Given the description of an element on the screen output the (x, y) to click on. 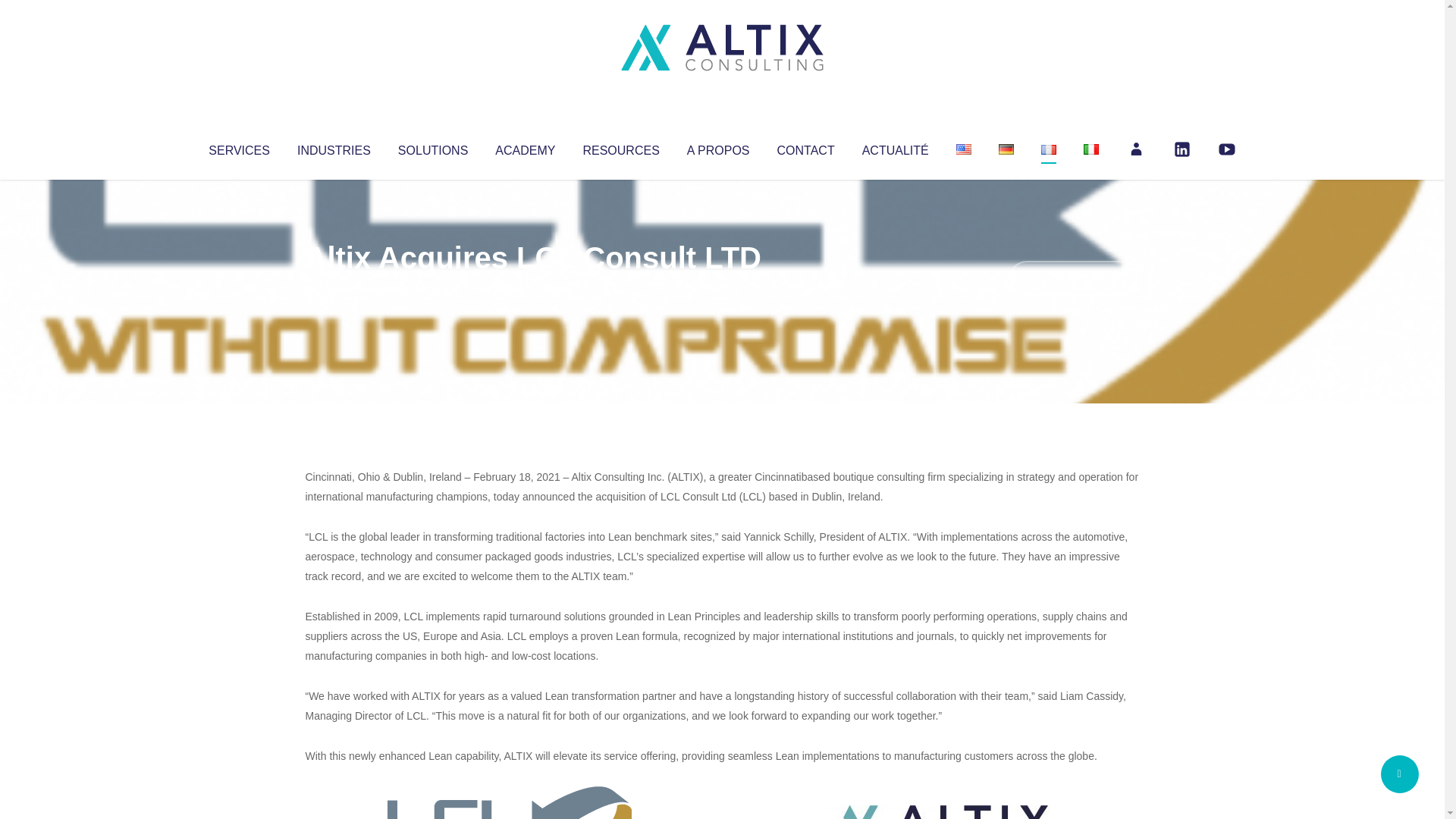
No Comments (1073, 278)
Altix (333, 287)
SERVICES (238, 146)
Uncategorized (530, 287)
Articles par Altix (333, 287)
SOLUTIONS (432, 146)
RESOURCES (620, 146)
ACADEMY (524, 146)
INDUSTRIES (334, 146)
A PROPOS (718, 146)
